Given the description of an element on the screen output the (x, y) to click on. 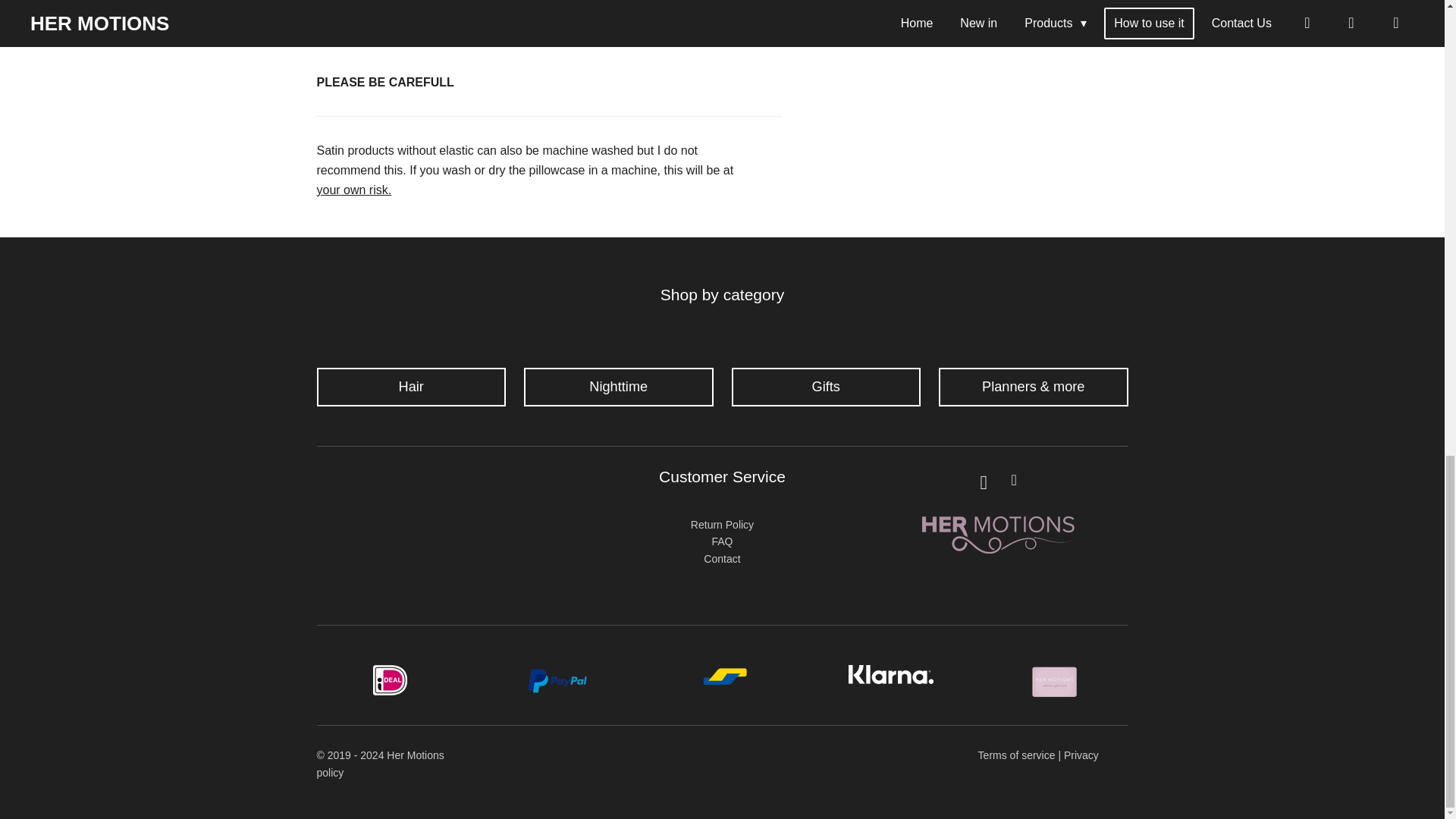
Return Policy (722, 524)
Gifts (825, 386)
Nighttime (618, 386)
Terms of service (1016, 755)
Gifts (825, 386)
Contact (721, 558)
Planners and more (1033, 386)
Nighttime (618, 386)
Hair (411, 386)
Hair (411, 386)
